Given the description of an element on the screen output the (x, y) to click on. 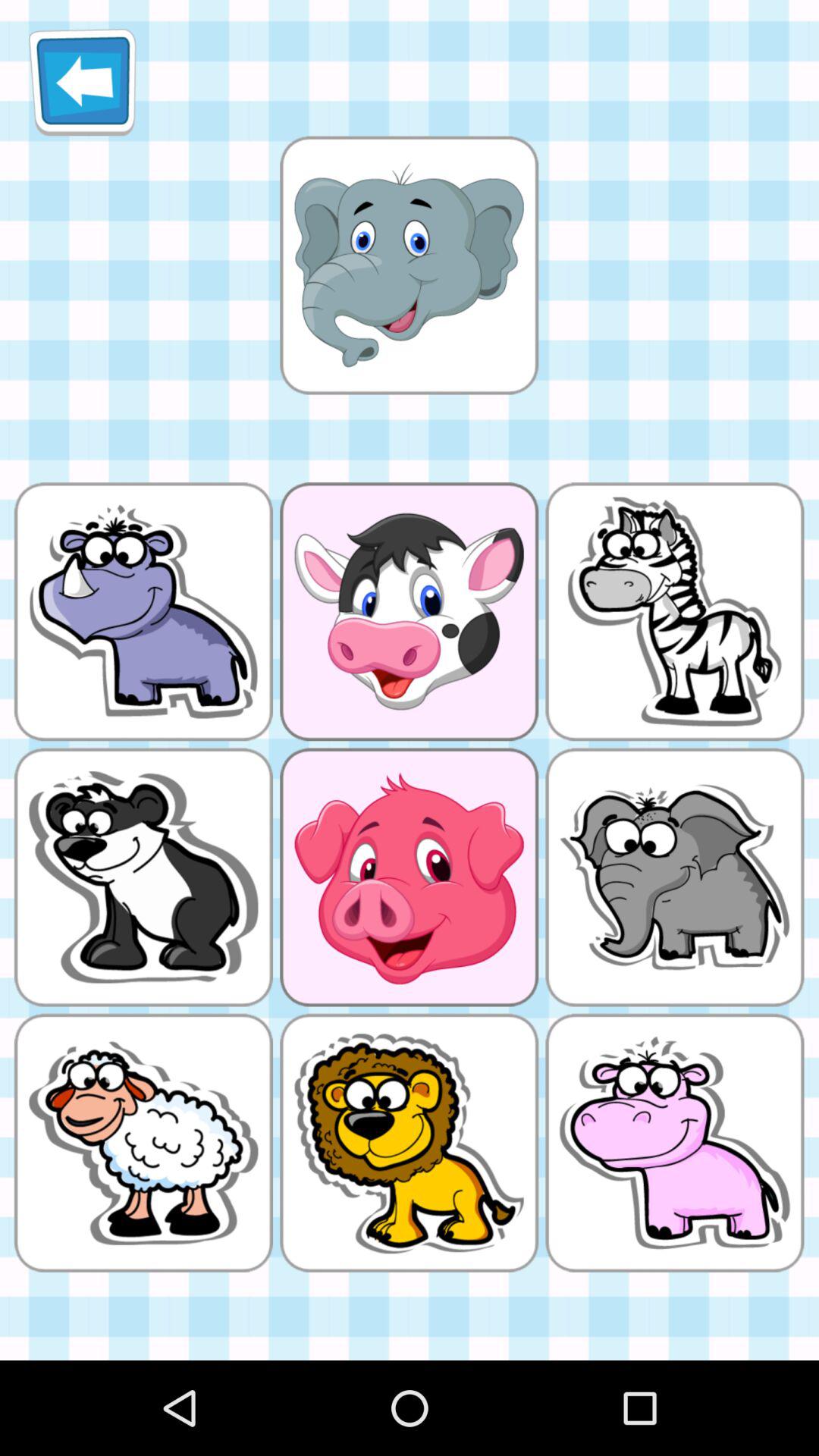
select elephant (409, 264)
